Given the description of an element on the screen output the (x, y) to click on. 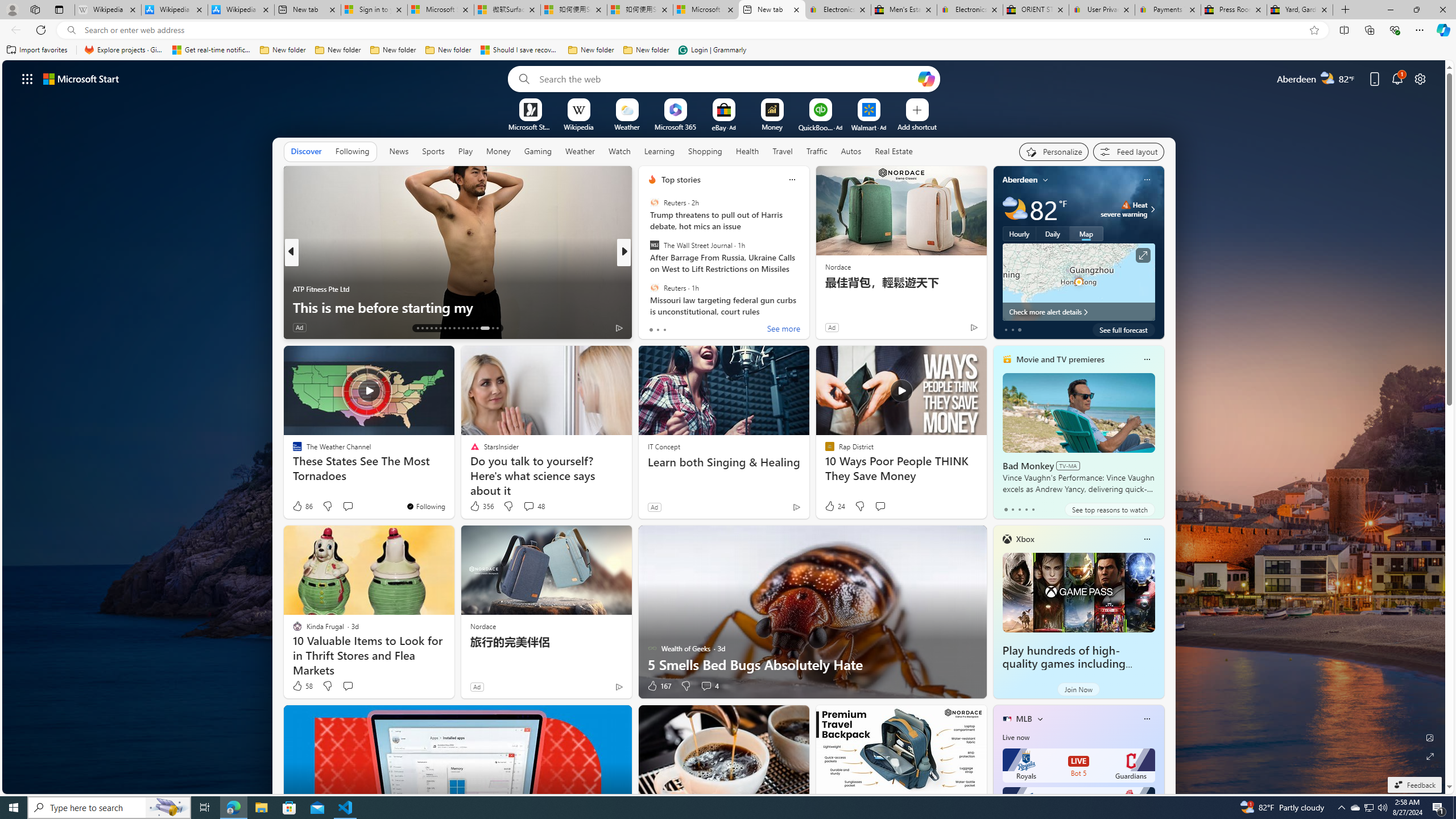
Learning (659, 151)
See full forecast (1123, 329)
This is me before starting my (457, 307)
Search icon (70, 29)
My location (1045, 179)
Hourly (1018, 233)
AutomationID: tab-13 (417, 328)
Ad Choice (619, 686)
AutomationID: tab-18 (440, 328)
Travel (782, 151)
Health (746, 151)
